Given the description of an element on the screen output the (x, y) to click on. 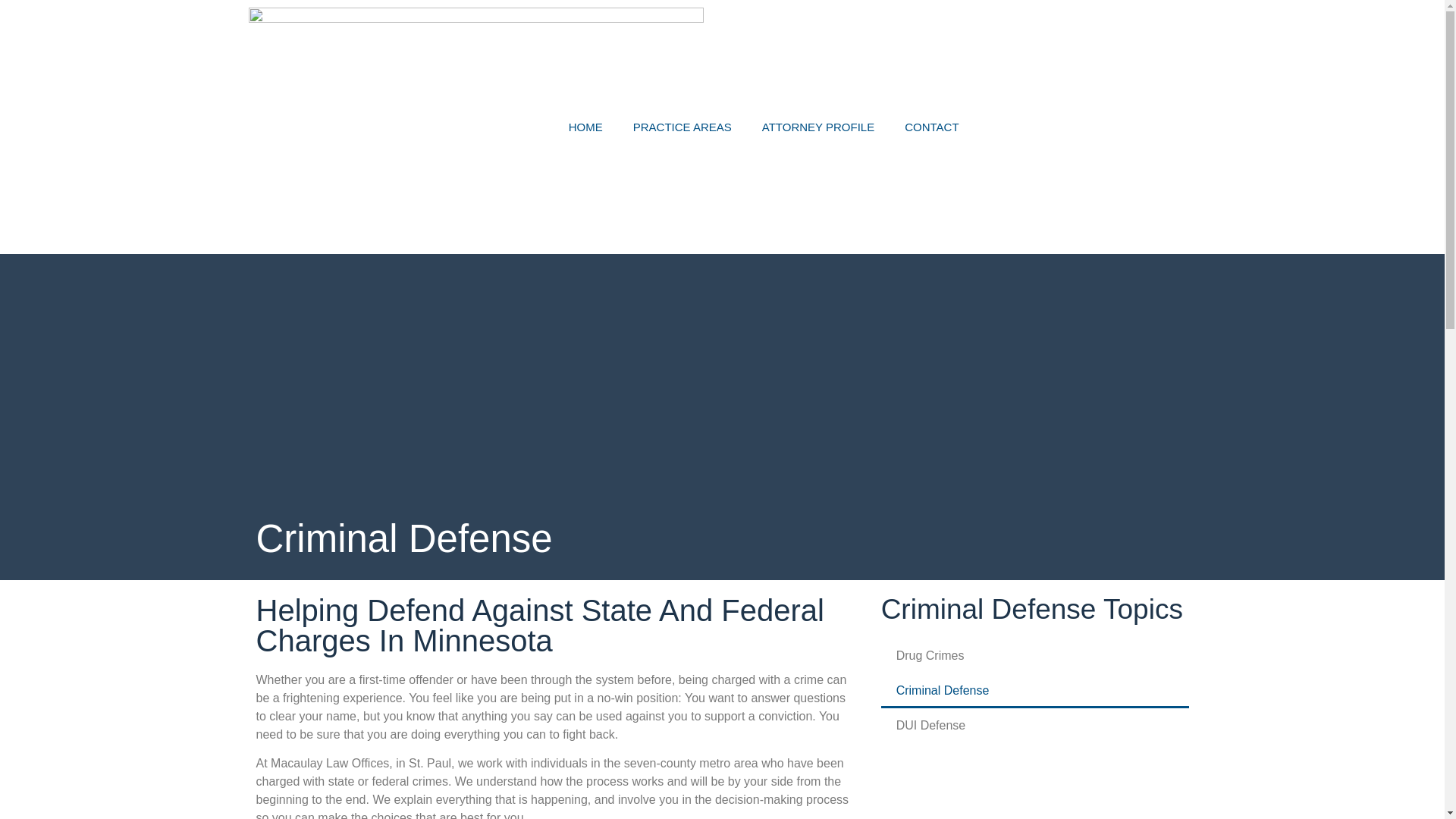
ATTORNEY PROFILE (817, 126)
PRACTICE AREAS (681, 126)
Drug Crimes (1034, 655)
DUI Defense (1034, 725)
CONTACT (931, 126)
Criminal Defense (1034, 690)
HOME (585, 126)
